Given the description of an element on the screen output the (x, y) to click on. 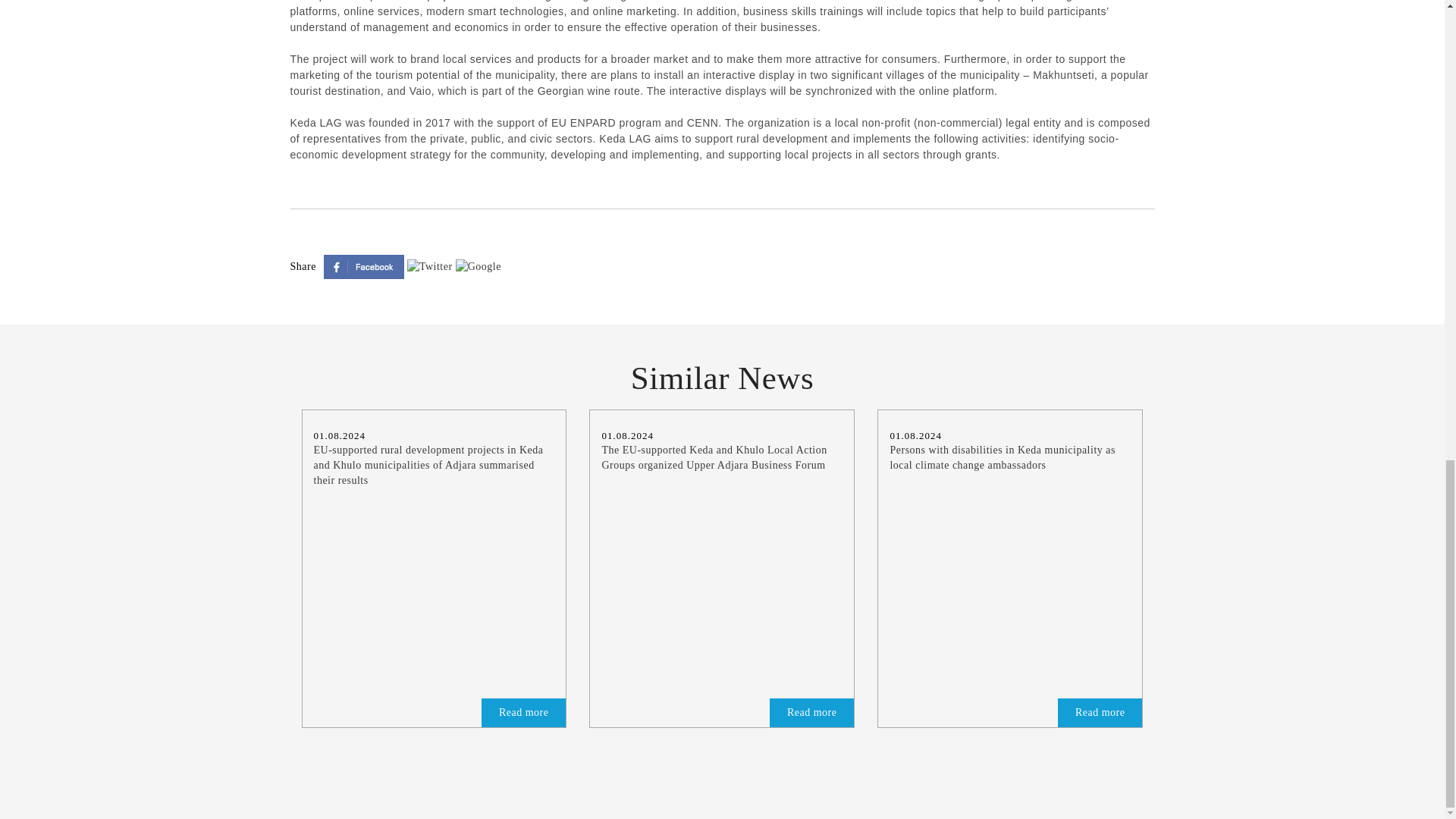
Read more (812, 712)
FaceBook (365, 265)
Read more (523, 712)
Read more (812, 712)
Google (477, 265)
Read more (1100, 712)
Twitter (431, 265)
Read more (1100, 712)
